Given the description of an element on the screen output the (x, y) to click on. 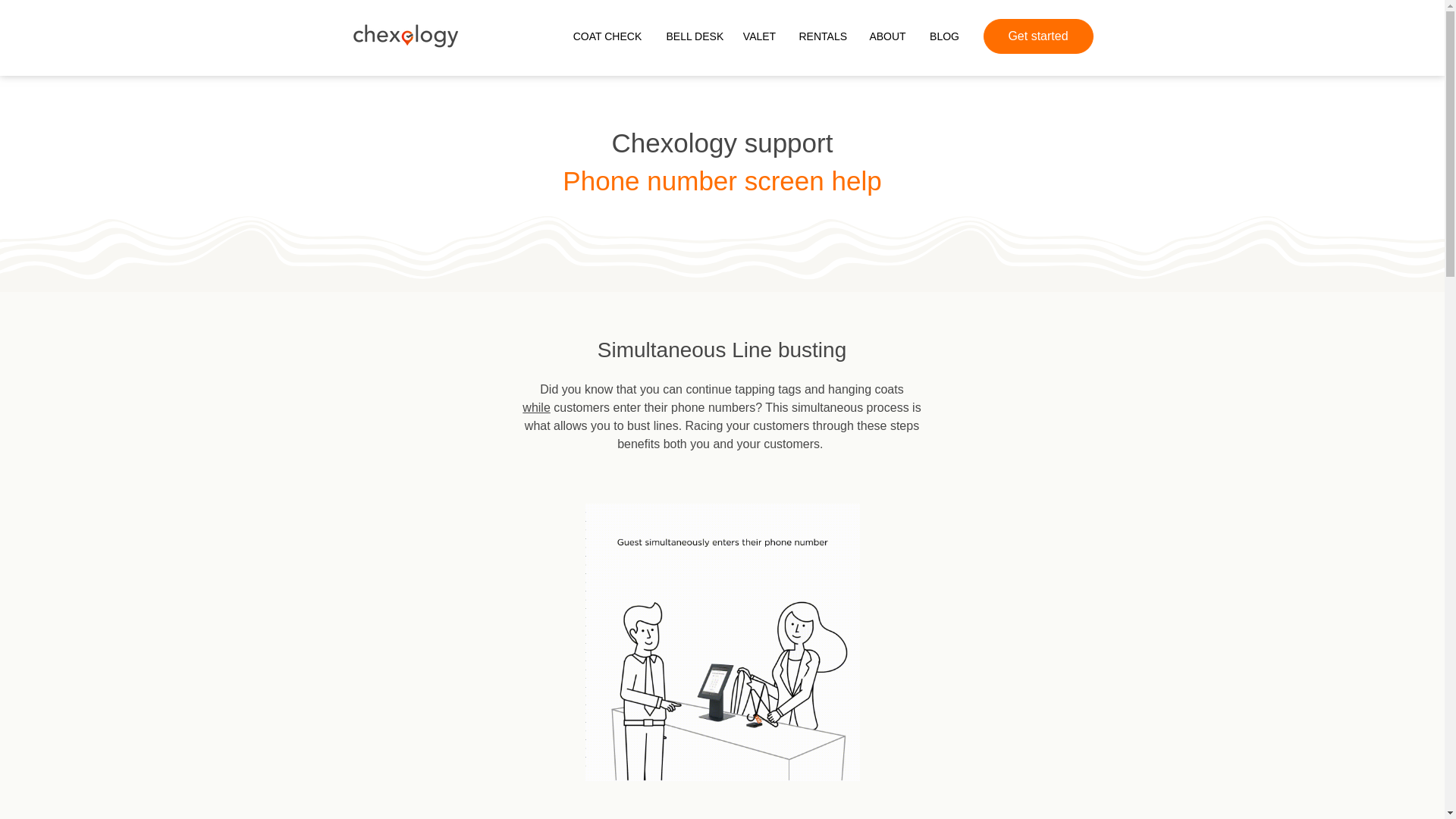
ABOUT (887, 36)
COAT CHECK (606, 36)
BLOG (944, 36)
Get started (1037, 36)
RENTALS (822, 36)
VALET (758, 36)
BELL DESK (693, 36)
